Given the description of an element on the screen output the (x, y) to click on. 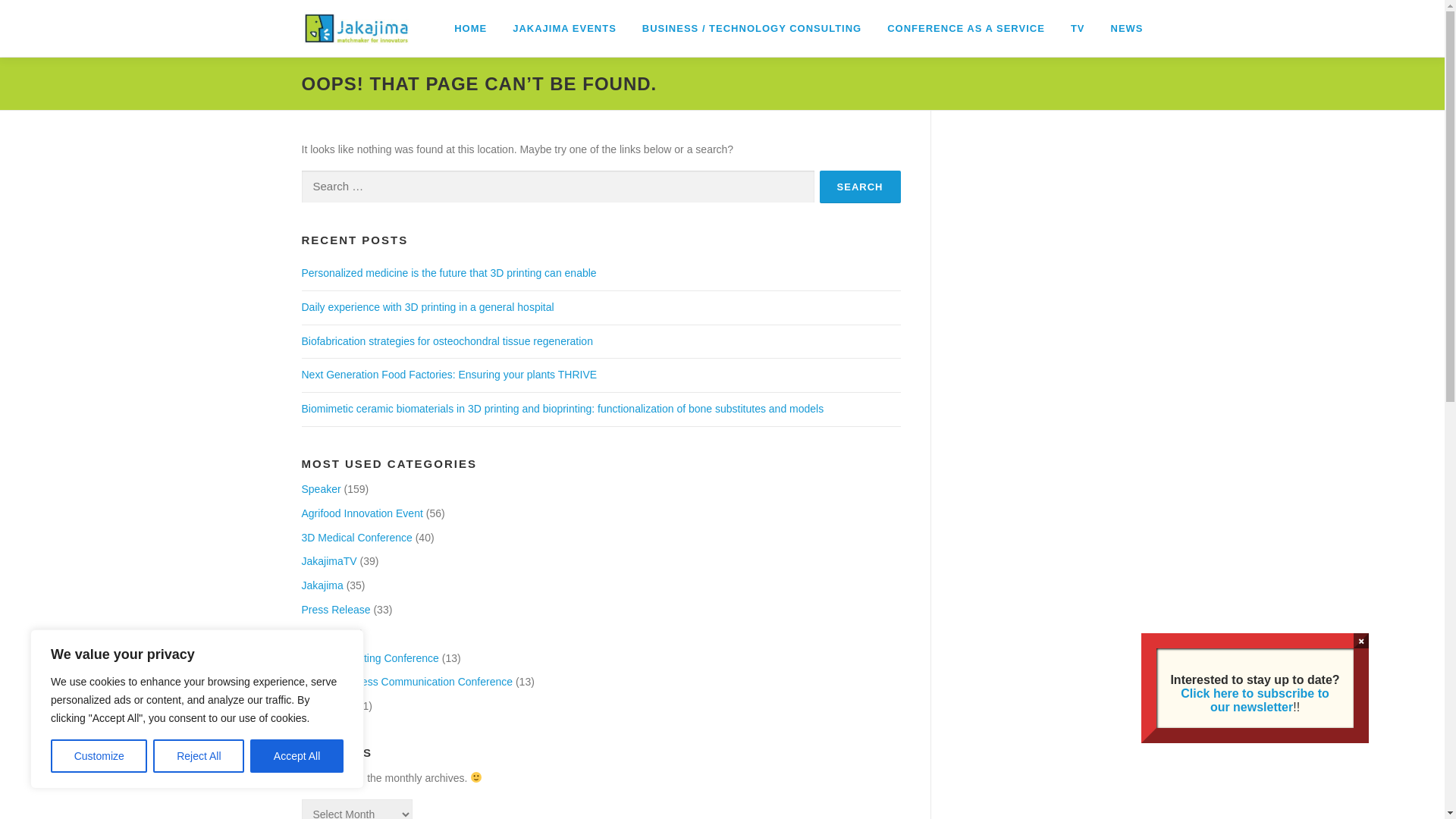
Jakajima Element type: text (322, 585)
JakajimaTV Element type: text (329, 561)
JAKAJIMA EVENTS Element type: text (564, 28)
Reject All Element type: text (198, 755)
Press Release Element type: text (335, 609)
Daily experience with 3D printing in a general hospital Element type: text (427, 307)
3D Food Printing Conference Element type: text (370, 658)
exhibitor Element type: text (321, 633)
Speaker Element type: text (321, 489)
BUSINESS / TECHNOLOGY CONSULTING Element type: text (751, 28)
3D Medical Conference Element type: text (356, 537)
Optical Wireless Communication Conference Element type: text (407, 681)
Search Element type: text (859, 186)
Innovation Element type: text (326, 705)
HOME Element type: text (470, 28)
TV Element type: text (1077, 28)
NEWS Element type: text (1120, 28)
CONFERENCE AS A SERVICE Element type: text (965, 28)
Customize Element type: text (98, 755)
Click here to subscribe to our newsletter Element type: text (1254, 700)
Agrifood Innovation Event Element type: text (362, 513)
Accept All Element type: text (296, 755)
Next Generation Food Factories: Ensuring your plants THRIVE Element type: text (449, 374)
